Given the description of an element on the screen output the (x, y) to click on. 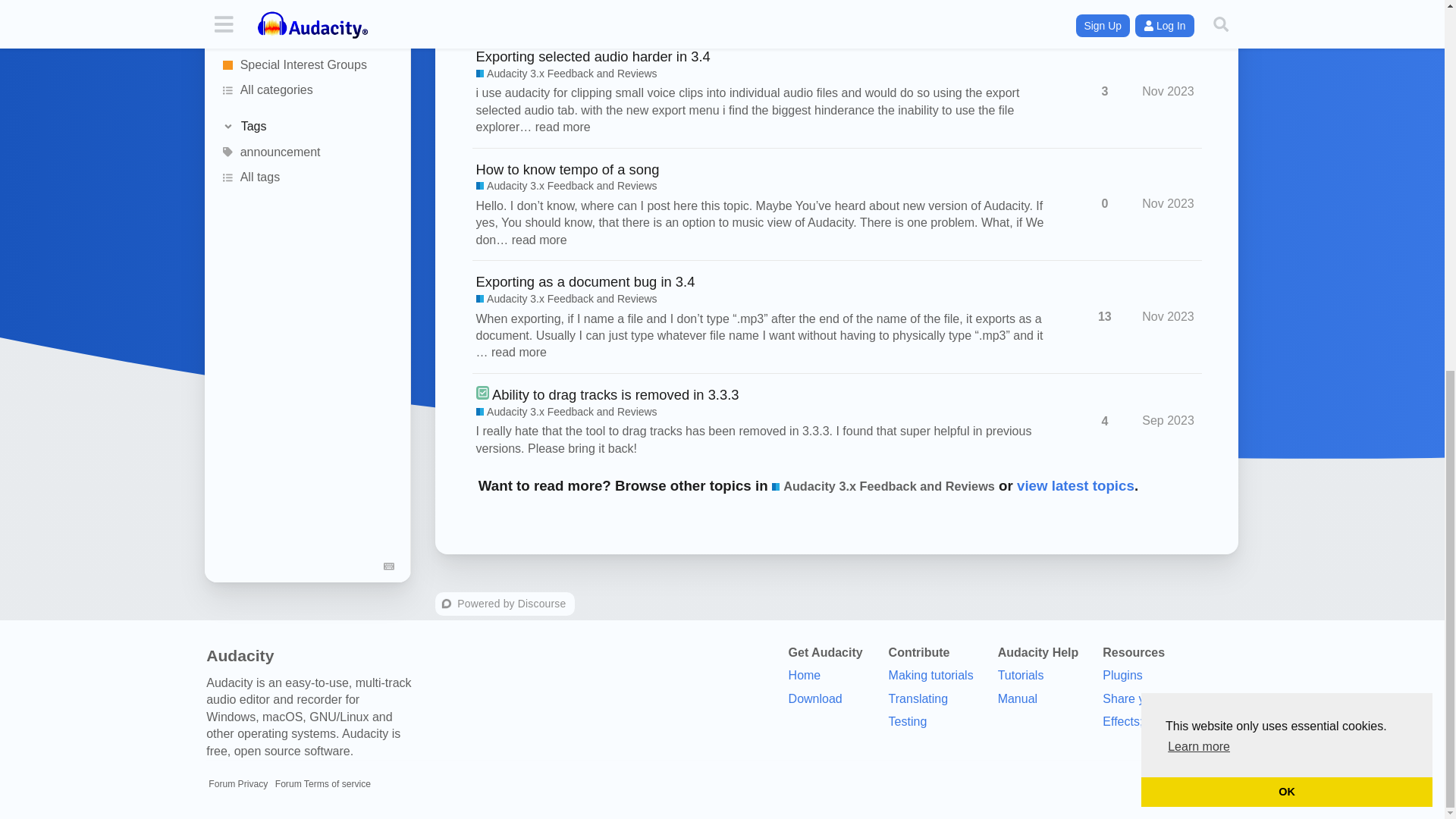
Keyboard Shortcuts (389, 90)
Audacity 3.x Feedback and Reviews (567, 73)
Exporting selected audio harder in 3.4 (593, 56)
OK (1286, 117)
Sep 2023 (1168, 2)
1 (1104, 2)
Learn more (1198, 72)
3 (1104, 91)
